Given the description of an element on the screen output the (x, y) to click on. 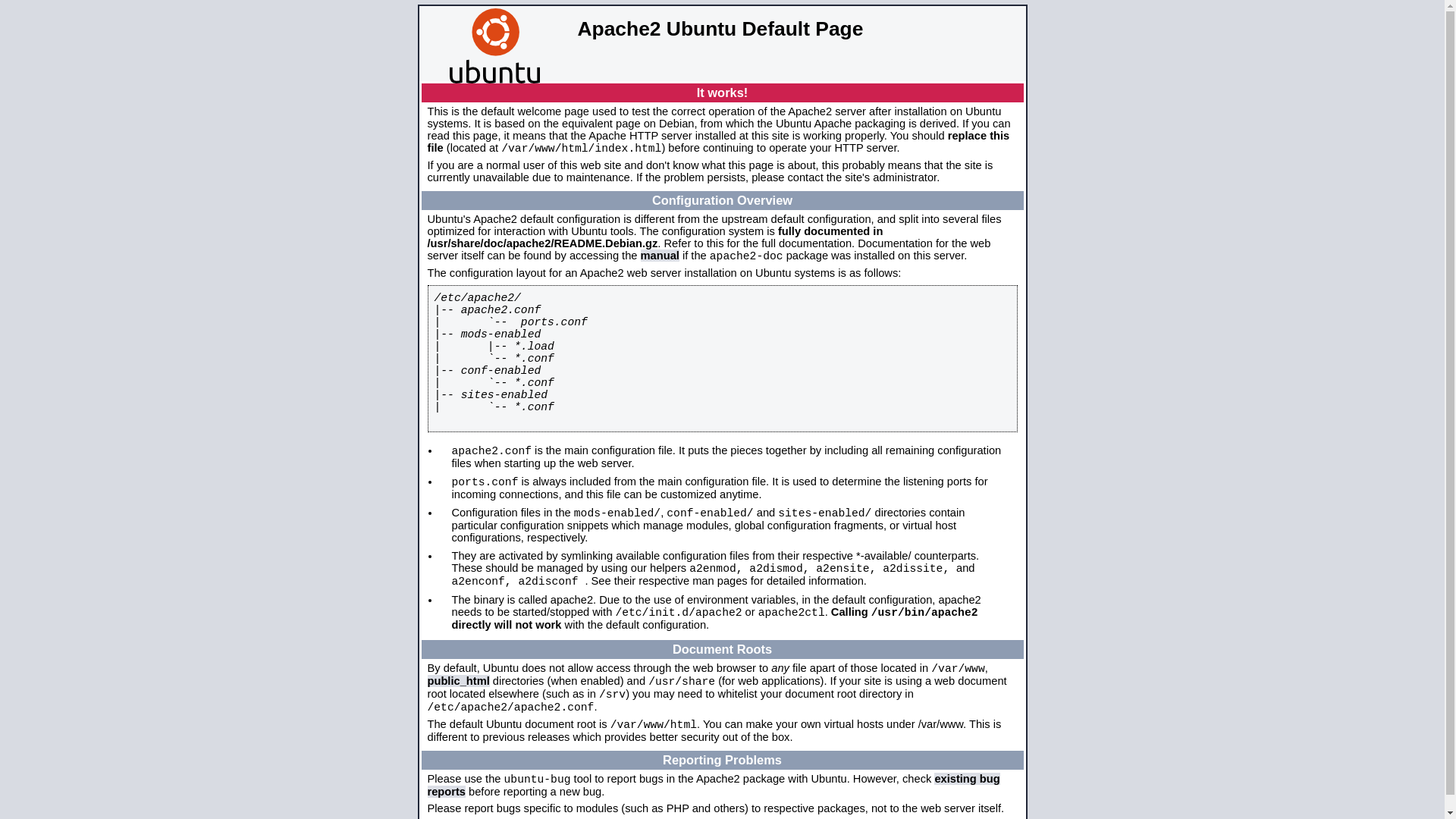
existing bug reports Element type: text (713, 784)
manual Element type: text (659, 255)
public_html Element type: text (458, 680)
